Given the description of an element on the screen output the (x, y) to click on. 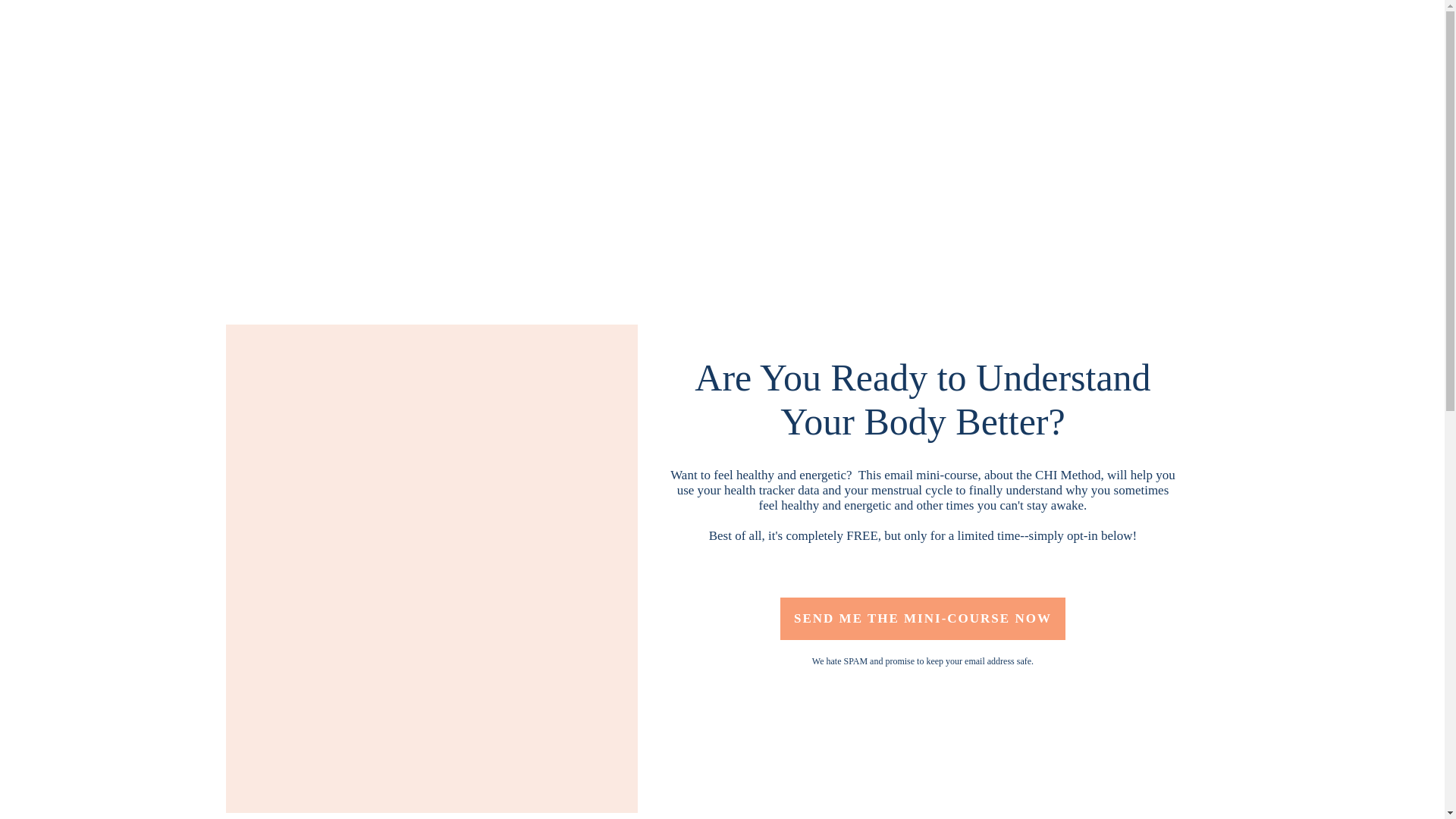
SEND ME THE MINI-COURSE NOW (922, 618)
cropped-EYC-Logo.png (722, 134)
